Given the description of an element on the screen output the (x, y) to click on. 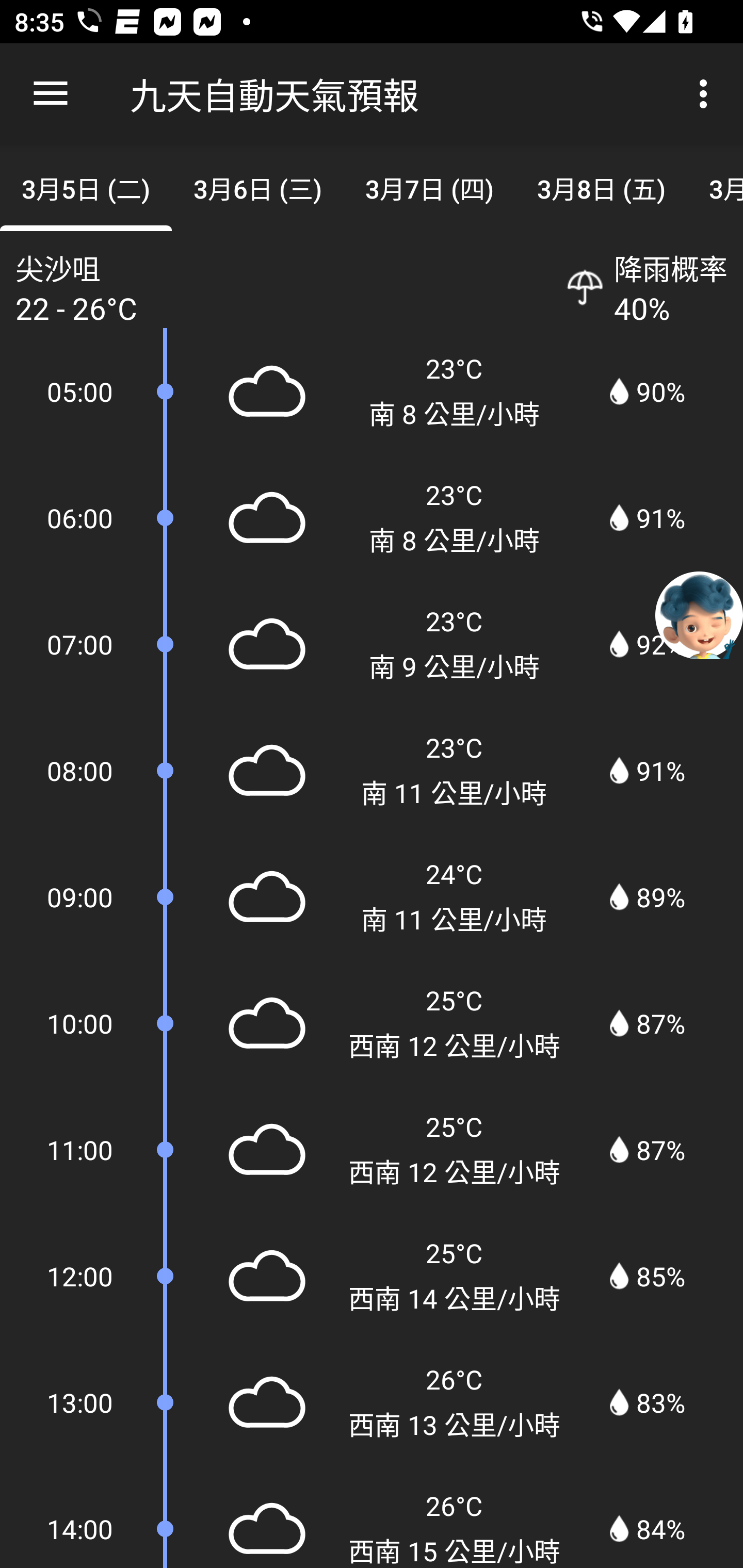
向上瀏覽 (50, 93)
更多選項 (706, 93)
3月6日 (三) (257, 187)
3月7日 (四) (429, 187)
3月8日 (五) (601, 187)
聊天機械人 (699, 614)
